Given the description of an element on the screen output the (x, y) to click on. 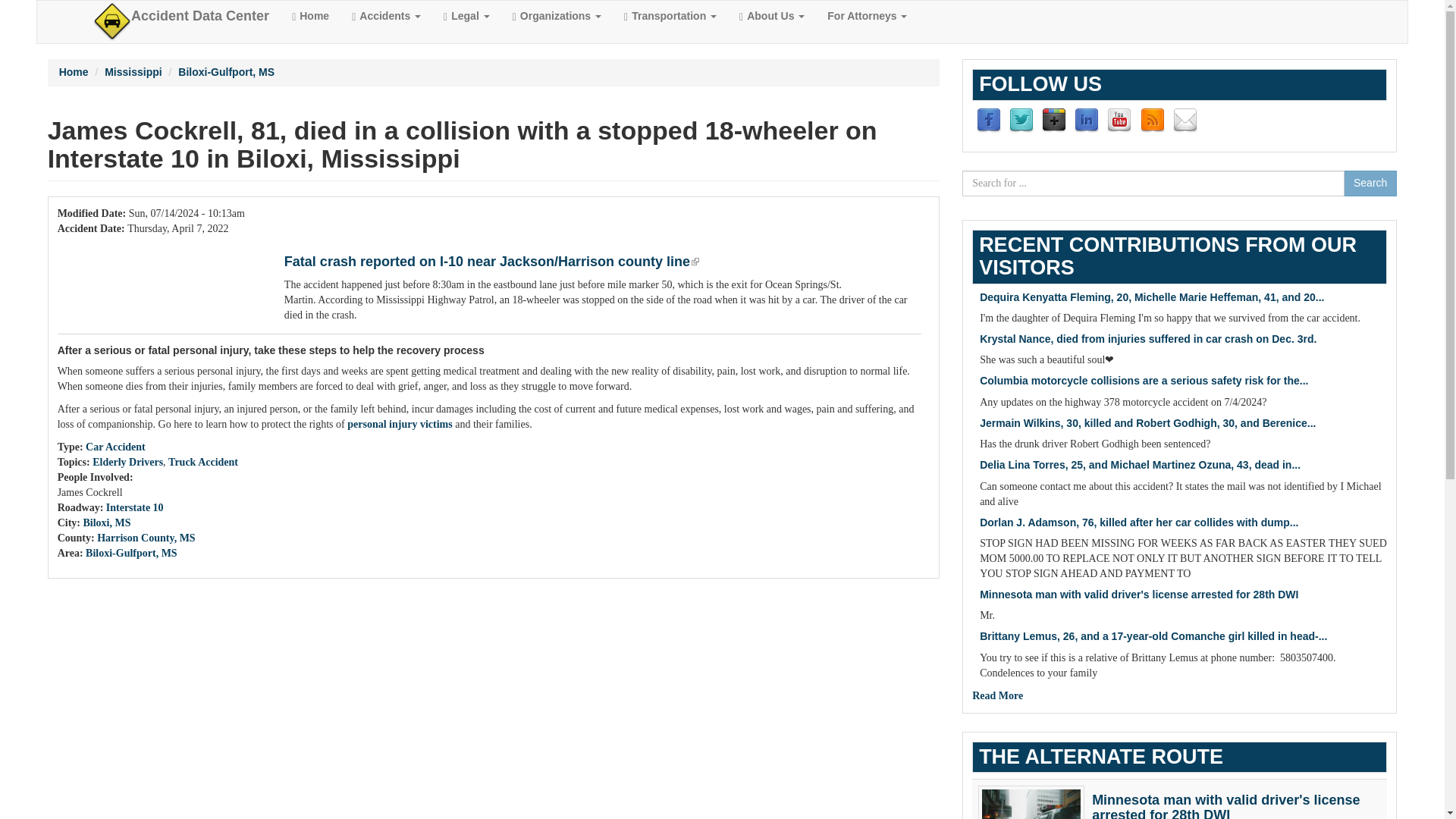
Legal (466, 15)
Transportation (670, 15)
Car Accident (115, 446)
Organizations (556, 15)
Legal (466, 15)
For Attorneys (866, 15)
About Us (771, 15)
Mississippi (132, 71)
Transportation (670, 15)
Home (310, 15)
Home (73, 71)
Accident Data Center (200, 15)
Organizations (556, 15)
Accidents (386, 15)
